Given the description of an element on the screen output the (x, y) to click on. 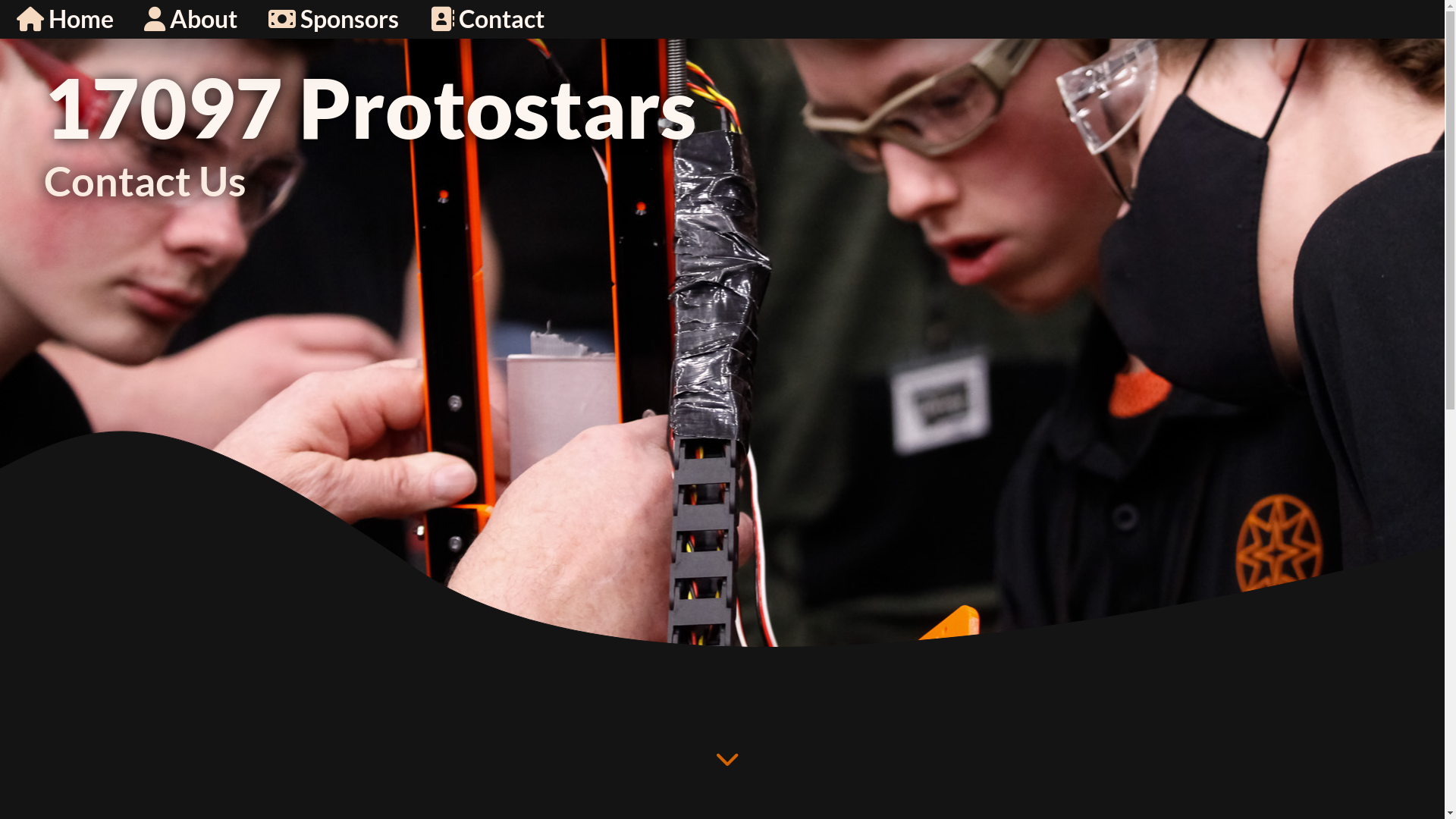
Home Element type: text (64, 18)
Contact Element type: text (486, 18)
Sponsors Element type: text (333, 18)
About Element type: text (190, 18)
